Given the description of an element on the screen output the (x, y) to click on. 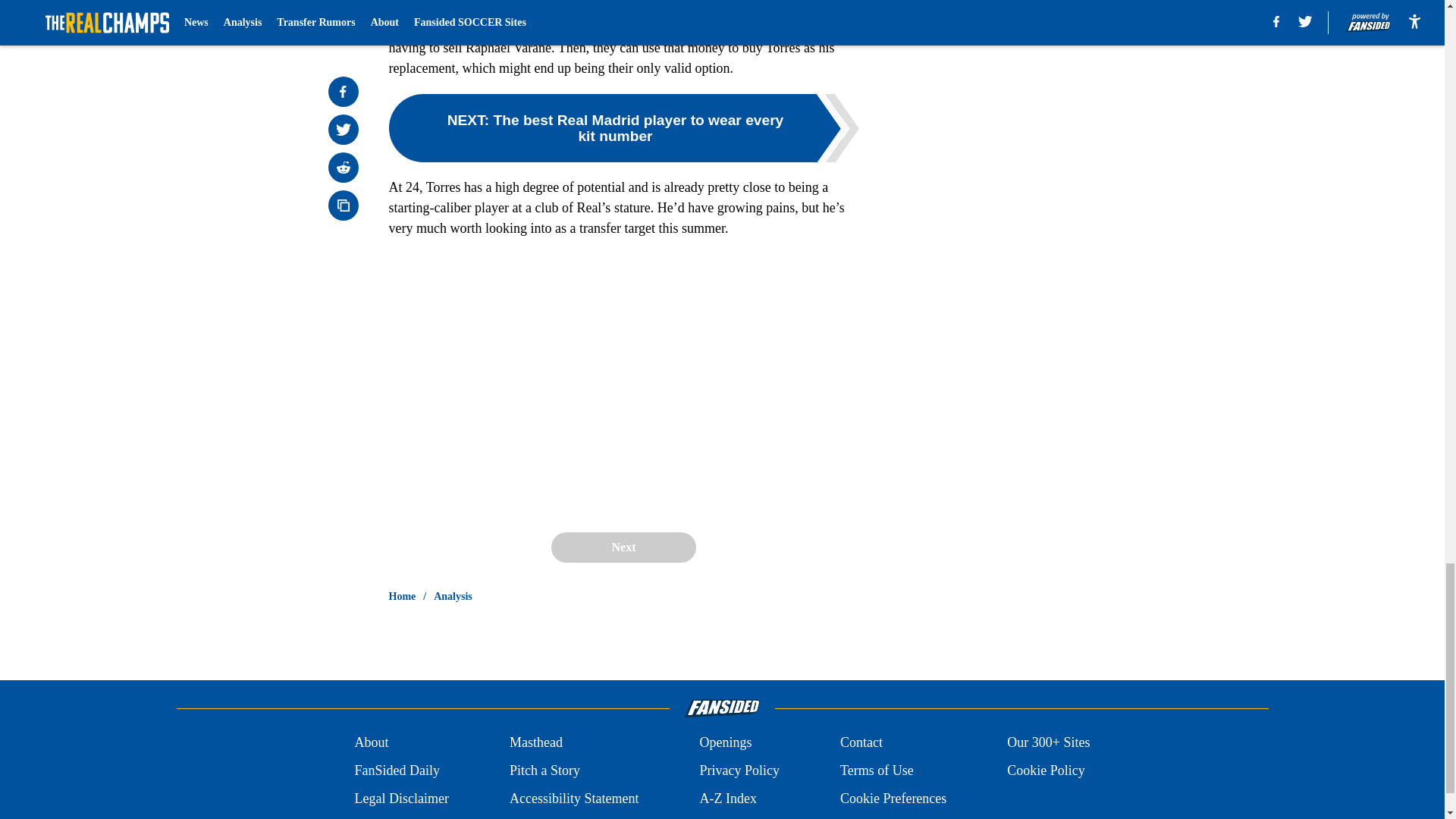
Masthead (535, 742)
Home (401, 596)
FanSided Daily (396, 770)
Analysis (452, 596)
Next (622, 547)
Contact (861, 742)
About (370, 742)
Openings (724, 742)
NEXT: The best Real Madrid player to wear every kit number (623, 128)
Terms of Use (877, 770)
Privacy Policy (738, 770)
Pitch a Story (544, 770)
Cookie Policy (1045, 770)
